Given the description of an element on the screen output the (x, y) to click on. 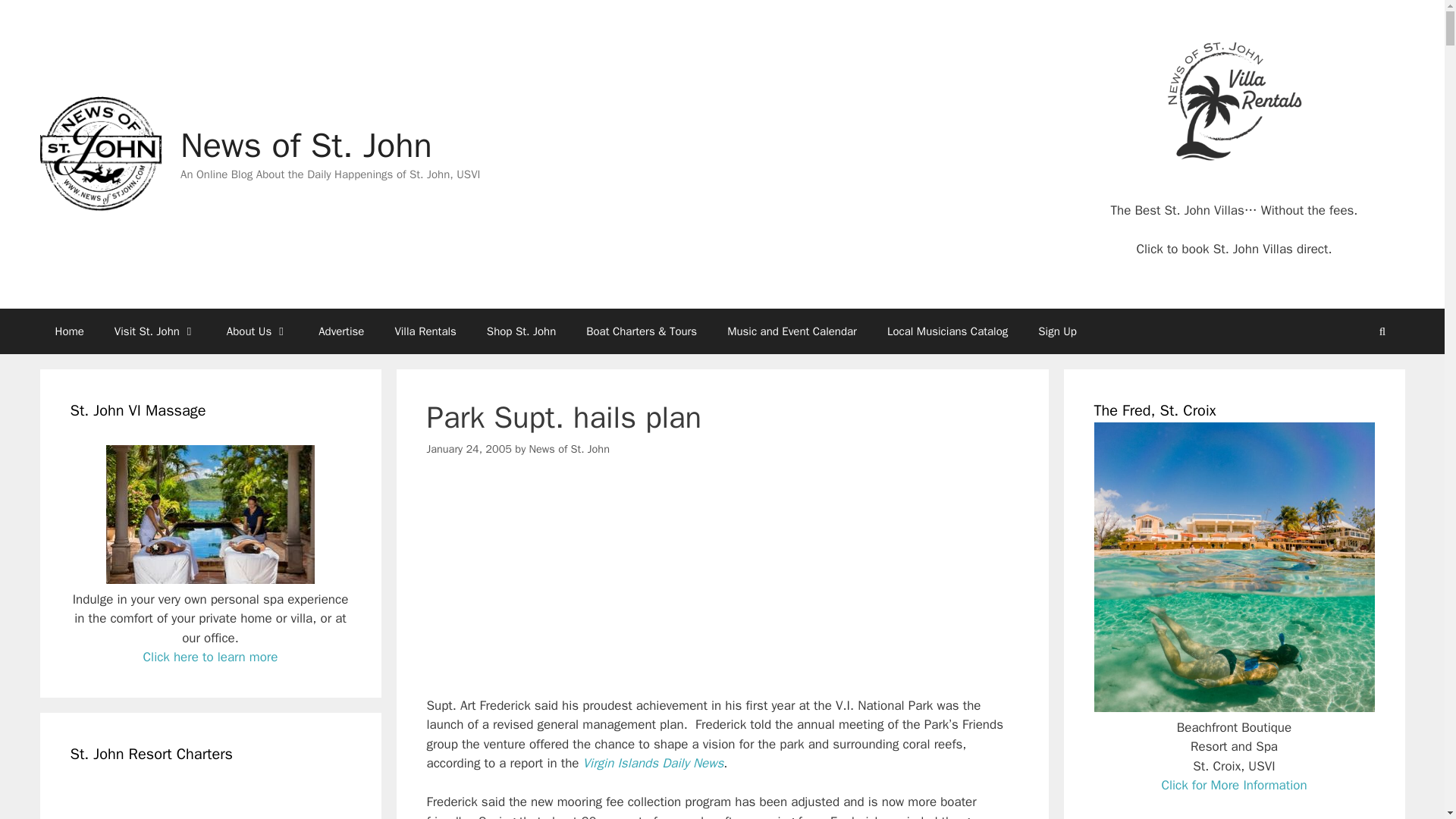
January 24, 2005 (469, 448)
Visit St. John (155, 330)
Local Musicians Catalog (947, 330)
Home (69, 330)
News of St. John (99, 154)
About Us (256, 330)
Click to book St. John Villas direct. (1233, 248)
Music and Event Calendar (791, 330)
Sign Up (1057, 330)
News of St. John (569, 448)
